Given the description of an element on the screen output the (x, y) to click on. 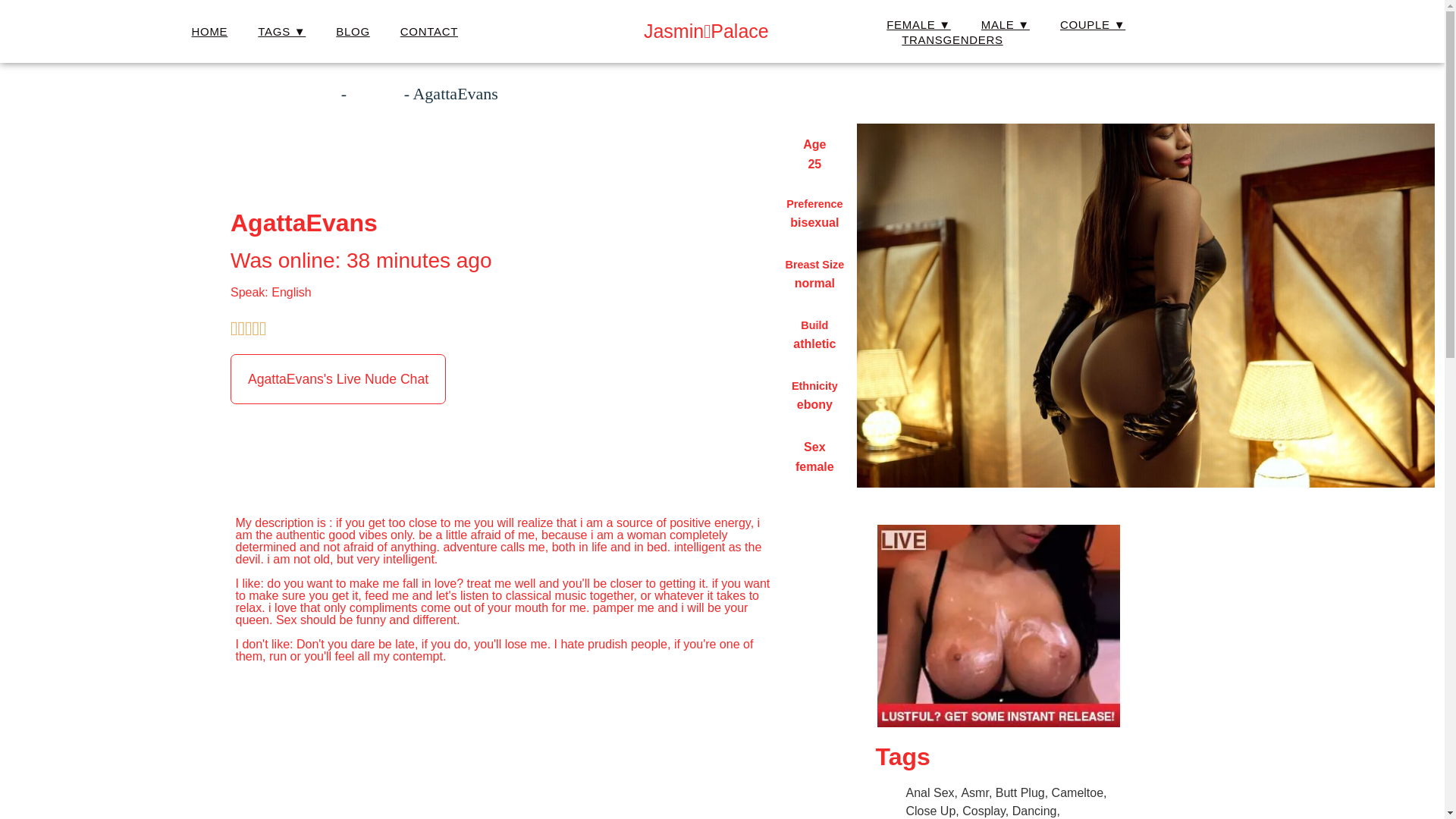
BLOG (352, 31)
Blog (352, 31)
CONTACT (429, 31)
Contact (429, 31)
Home (208, 31)
TRANSGENDERS (952, 39)
HOME (208, 31)
